Given the description of an element on the screen output the (x, y) to click on. 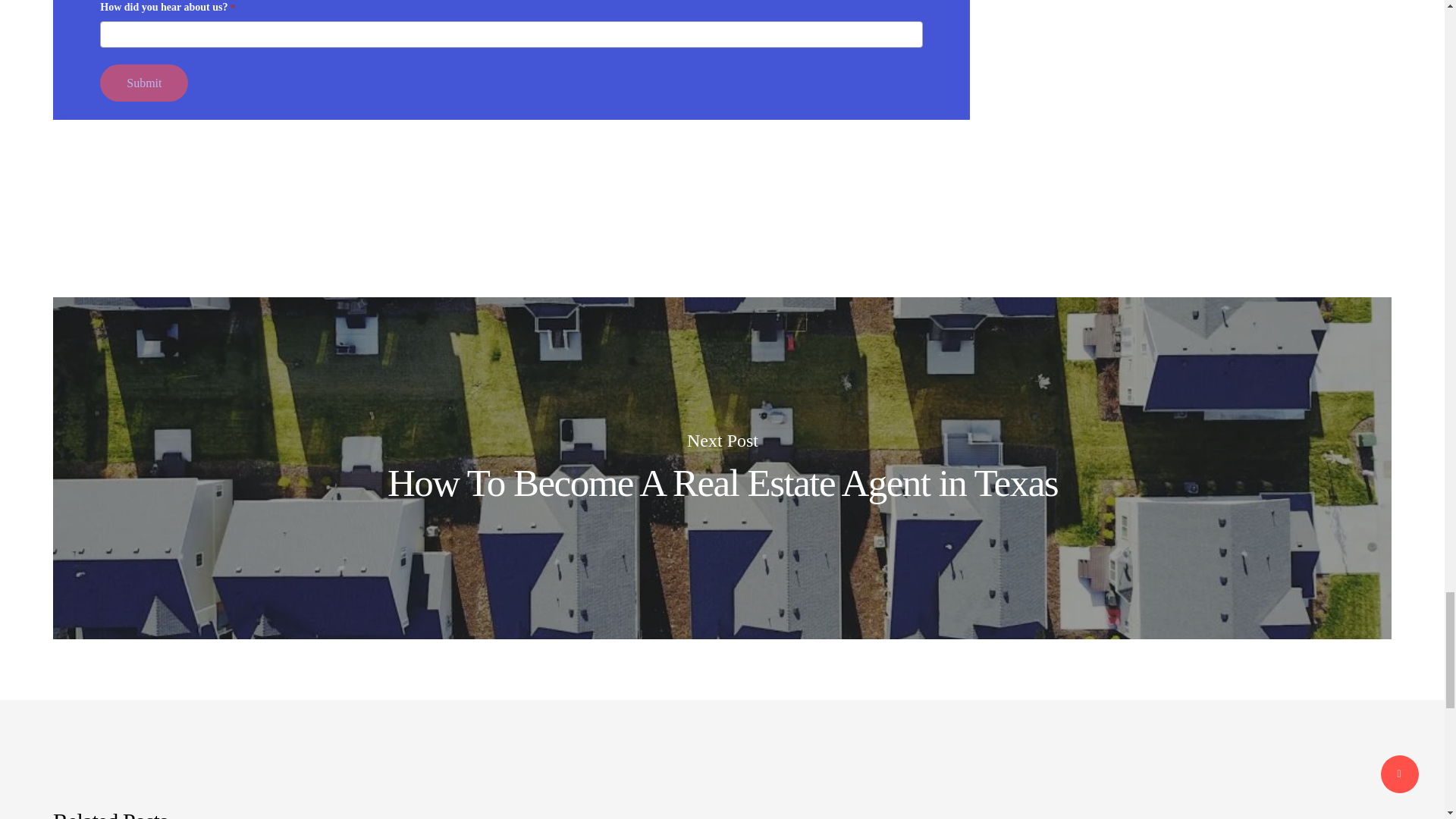
Submit (143, 82)
Submit (143, 82)
